Given the description of an element on the screen output the (x, y) to click on. 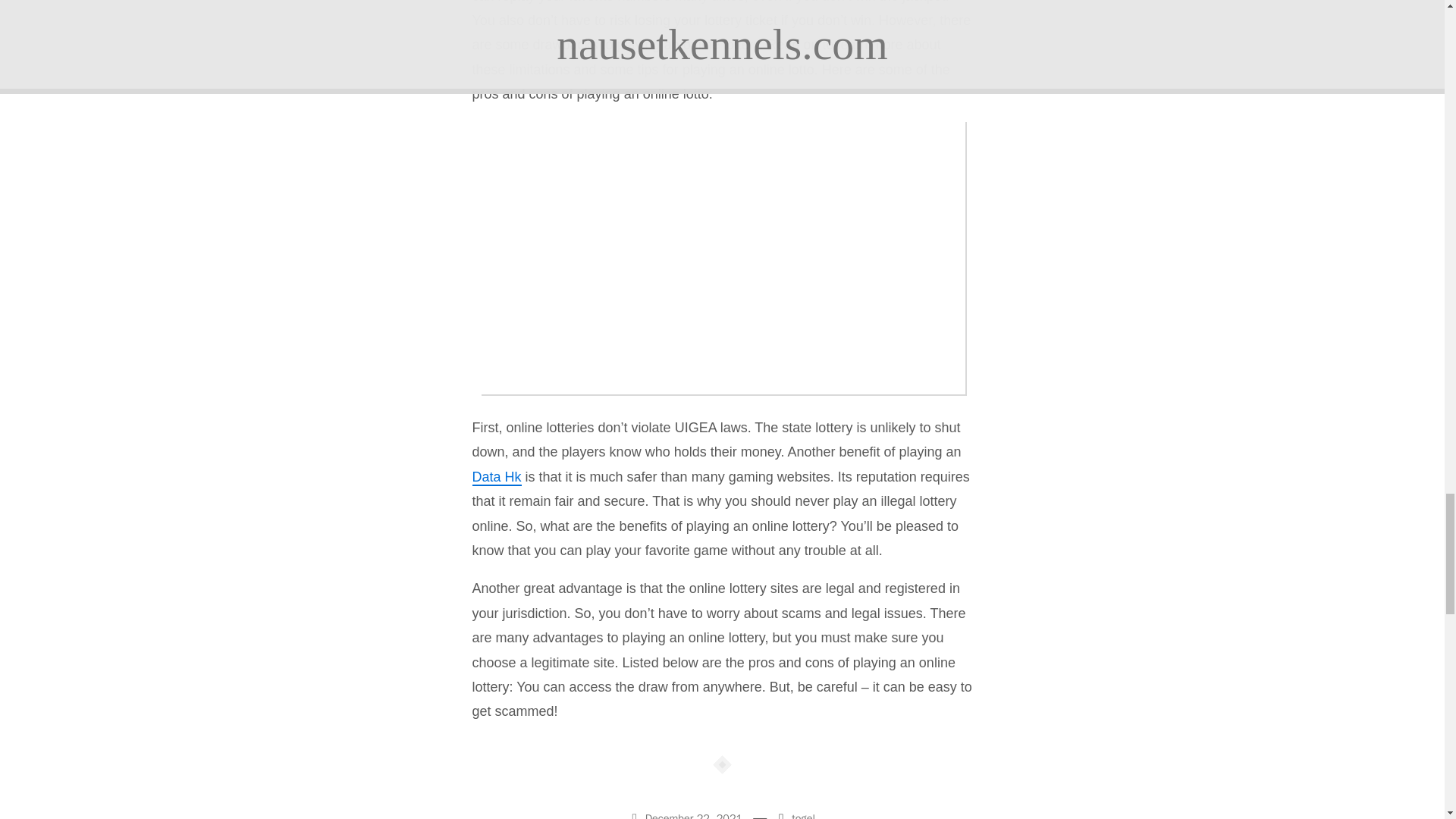
Data Hk (496, 477)
December 22, 2021 (688, 814)
togel (803, 815)
